Given the description of an element on the screen output the (x, y) to click on. 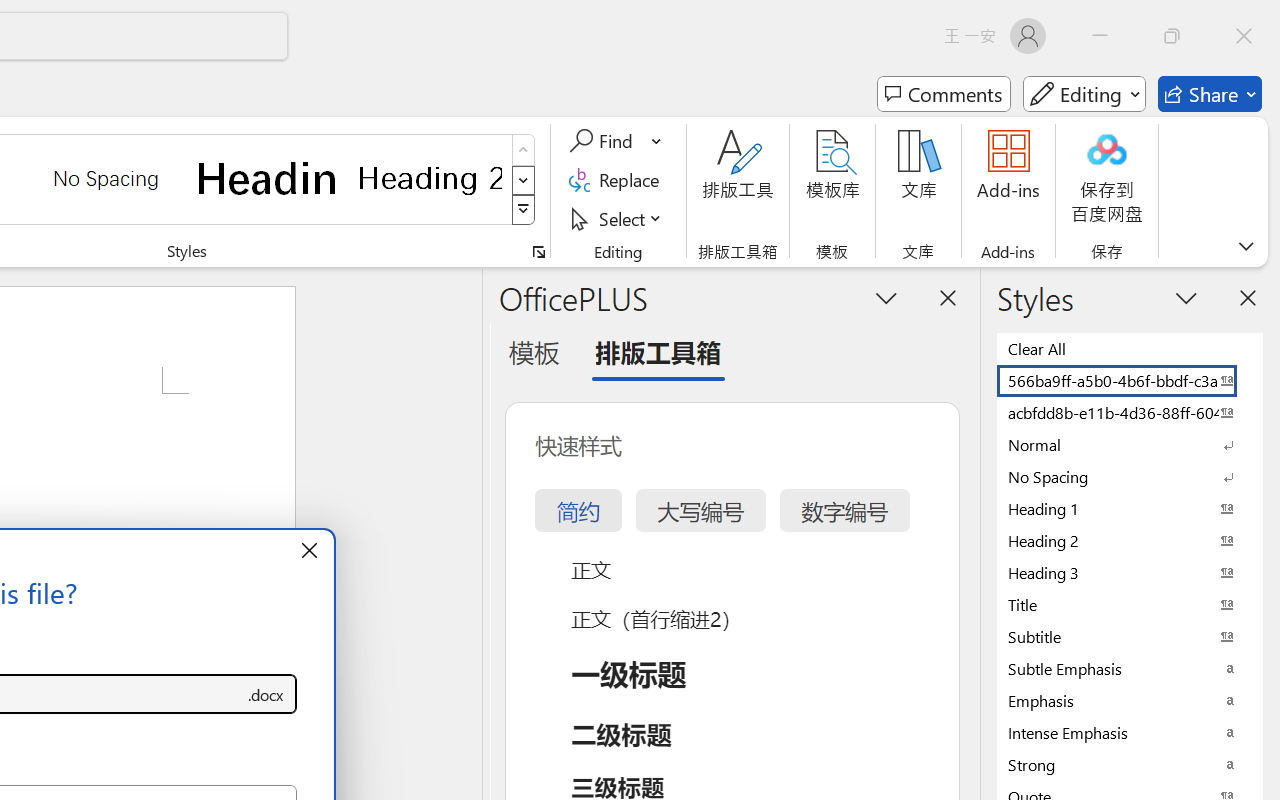
Find (604, 141)
Emphasis (1130, 700)
566ba9ff-a5b0-4b6f-bbdf-c3ab41993fc2 (1130, 380)
Row Down (523, 180)
Close (1244, 36)
Heading 2 (429, 178)
Comments (943, 94)
Title (1130, 604)
